Given the description of an element on the screen output the (x, y) to click on. 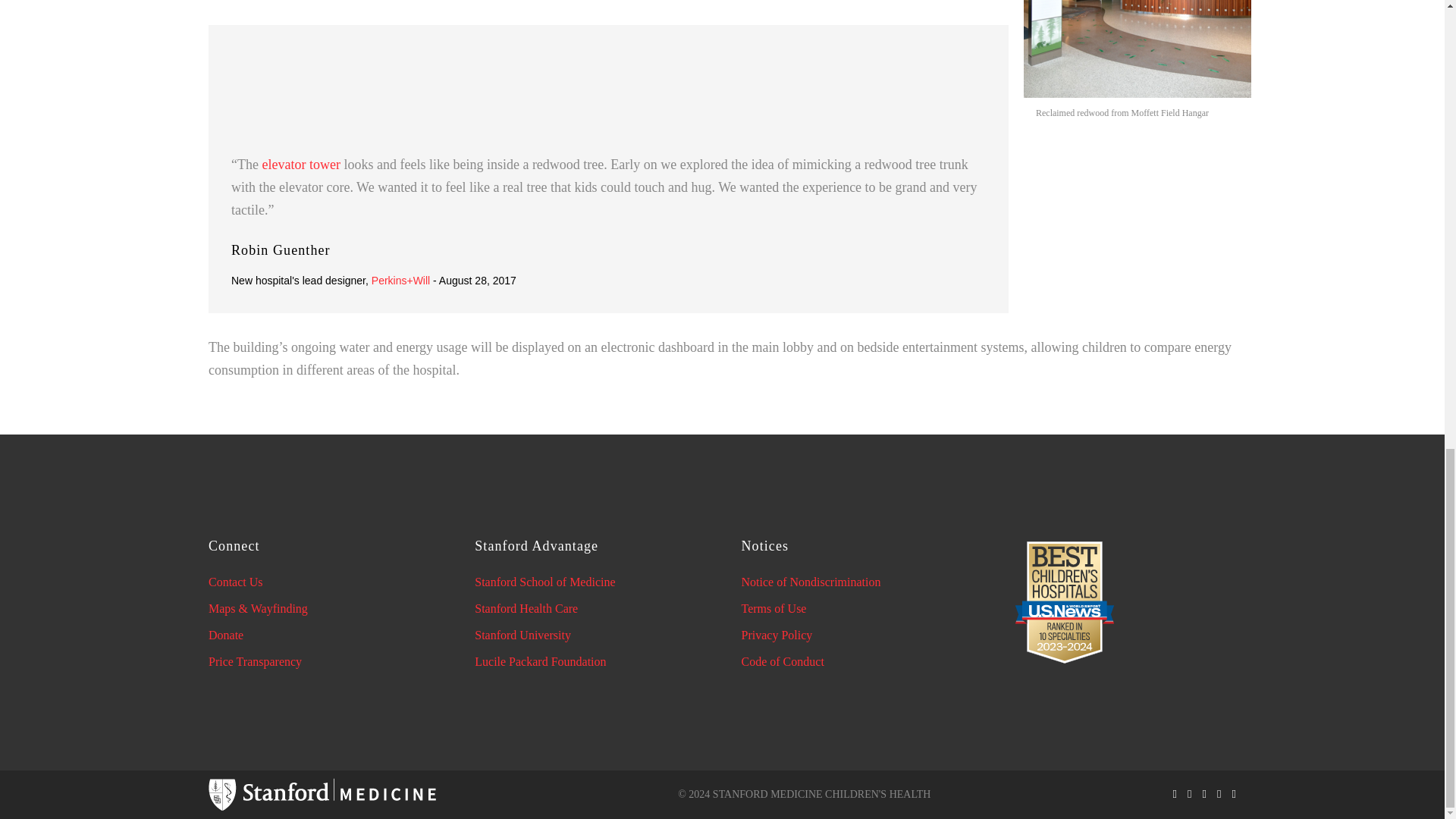
Code of Conduct (782, 661)
Price Transparency (254, 661)
Stanford School of Medicine (544, 581)
elevator tower (300, 164)
Contact Us (235, 581)
Lucile Packard Foundation (539, 661)
Privacy Policy (776, 634)
Notice of Nondiscrimination (810, 581)
Donate (225, 634)
Stanford Health Care (526, 608)
Stanford University (522, 634)
Terms of Use (773, 608)
